Given the description of an element on the screen output the (x, y) to click on. 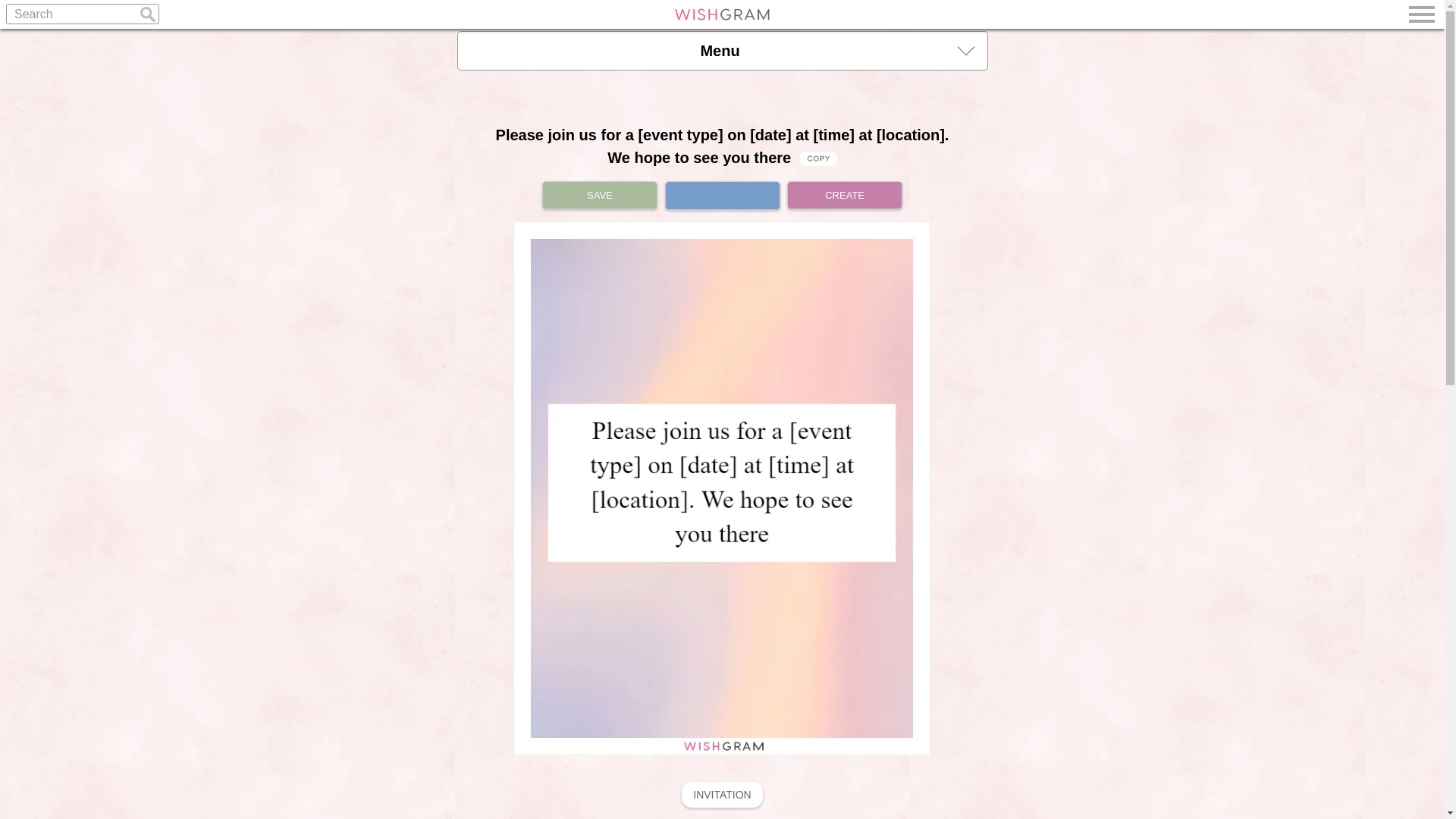
SAVE (599, 194)
INVITATION (721, 794)
Search (81, 14)
CREATE (844, 194)
